Given the description of an element on the screen output the (x, y) to click on. 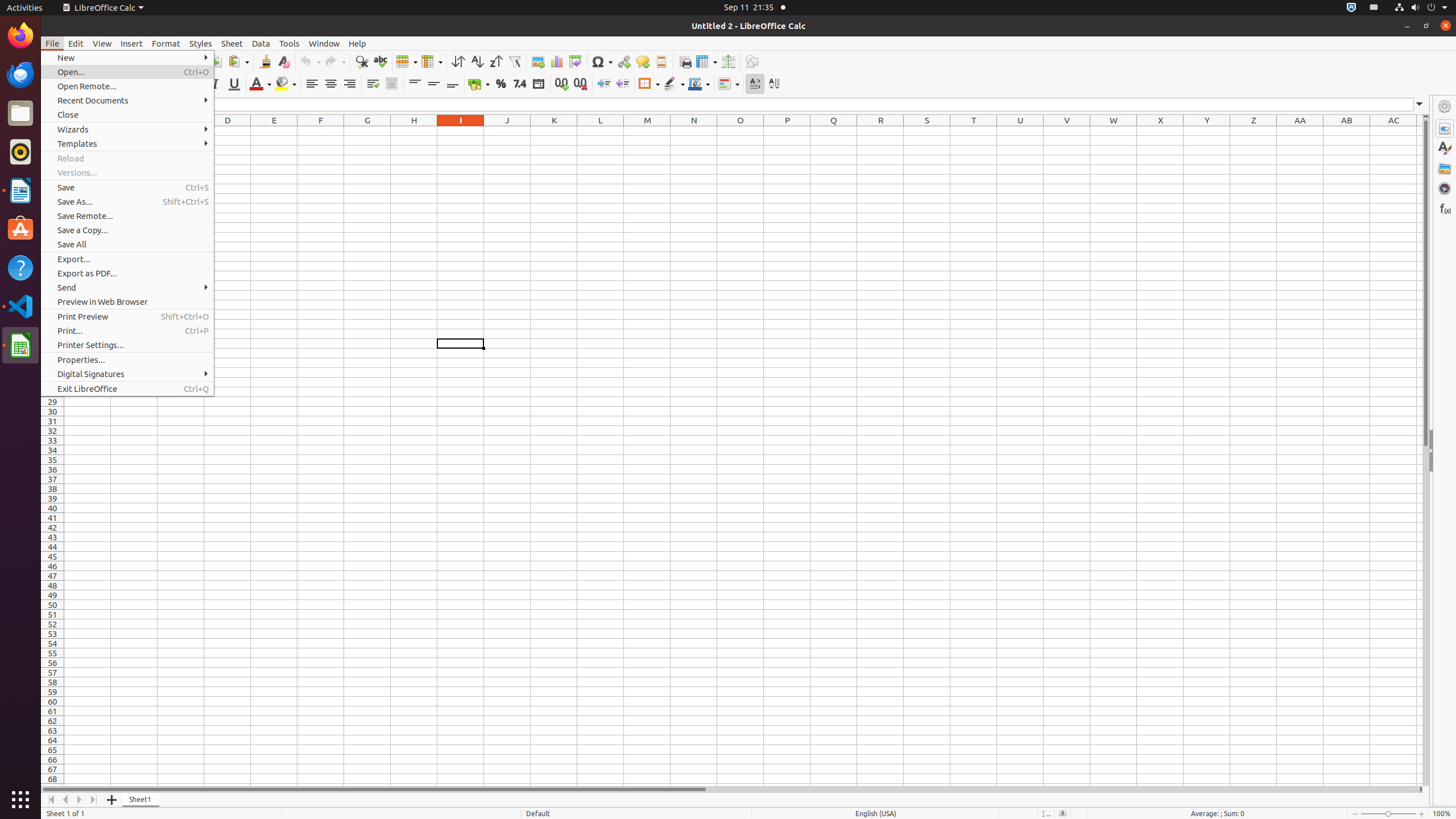
Y1 Element type: table-cell (1206, 130)
L1 Element type: table-cell (600, 130)
W1 Element type: table-cell (1113, 130)
Horizontal scroll bar Element type: scroll-bar (729, 789)
Spelling Element type: push-button (379, 61)
